Given the description of an element on the screen output the (x, y) to click on. 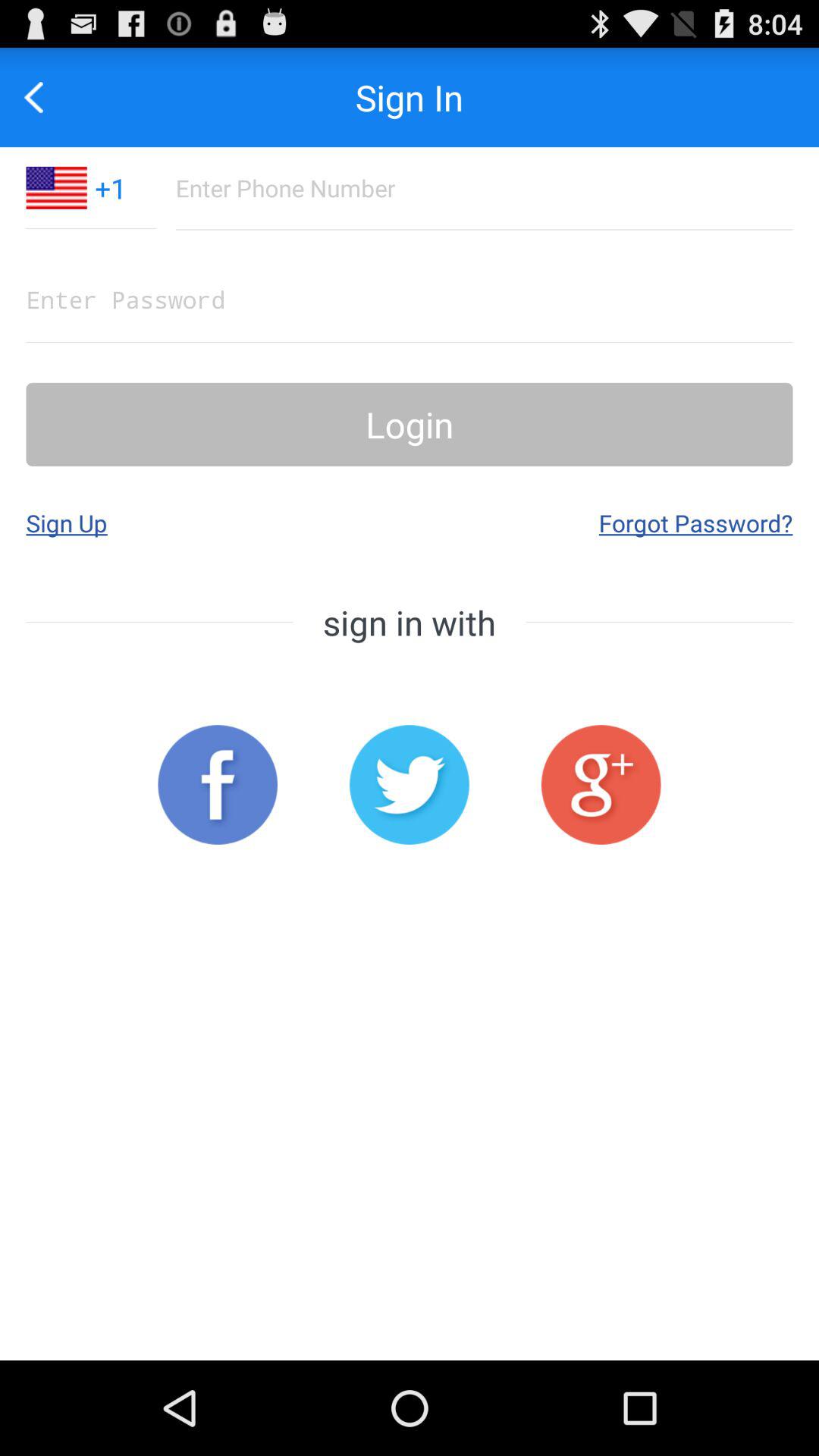
enter phone number (483, 188)
